Given the description of an element on the screen output the (x, y) to click on. 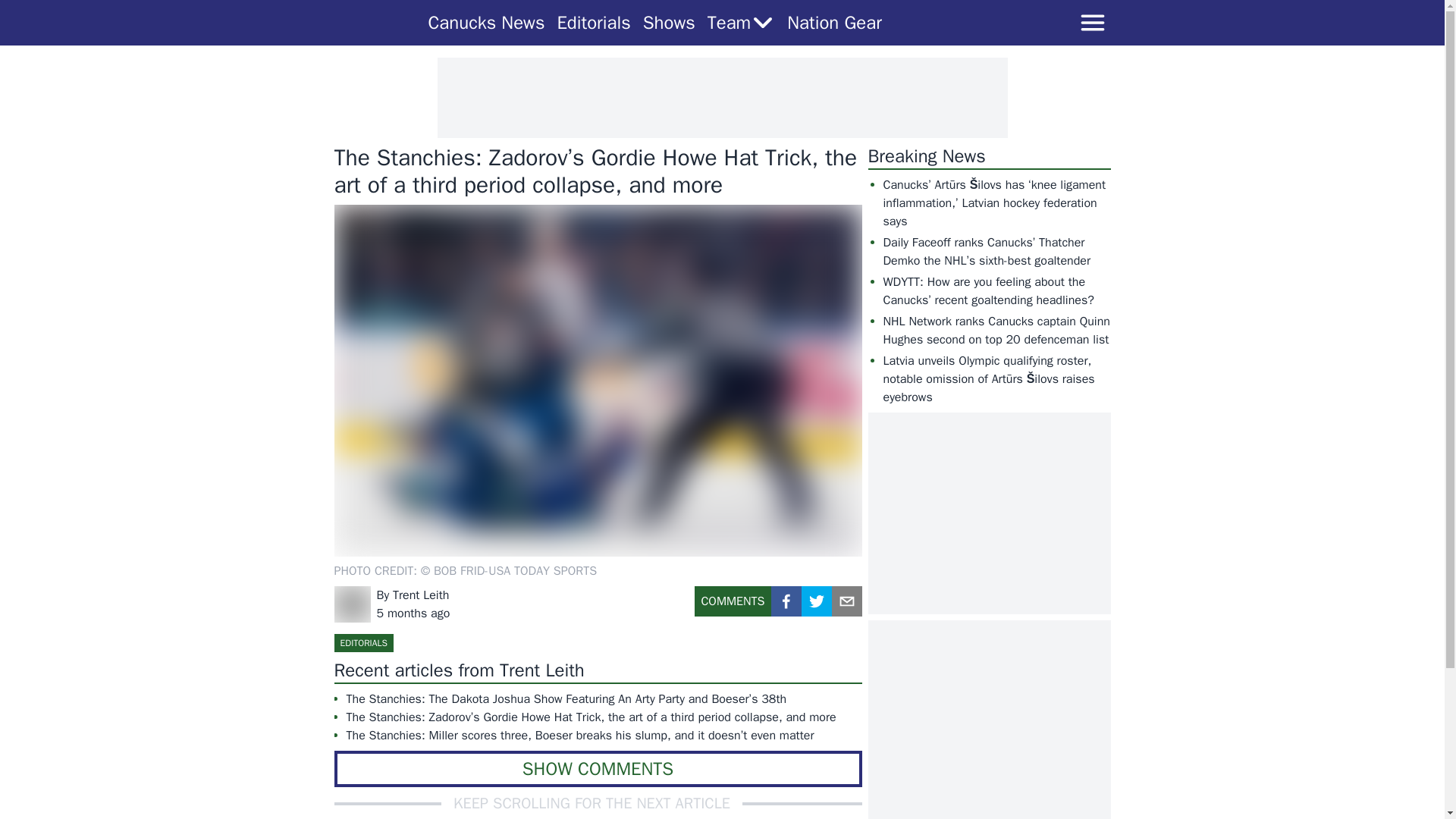
Nation Gear (834, 22)
SHOW COMMENTS (597, 769)
Editorials (593, 22)
COMMENTS (732, 606)
Trent Leith (420, 595)
SHOW COMMENTS (597, 769)
EDITORIALS (363, 642)
Canucks News (486, 22)
Shows (669, 22)
